Given the description of an element on the screen output the (x, y) to click on. 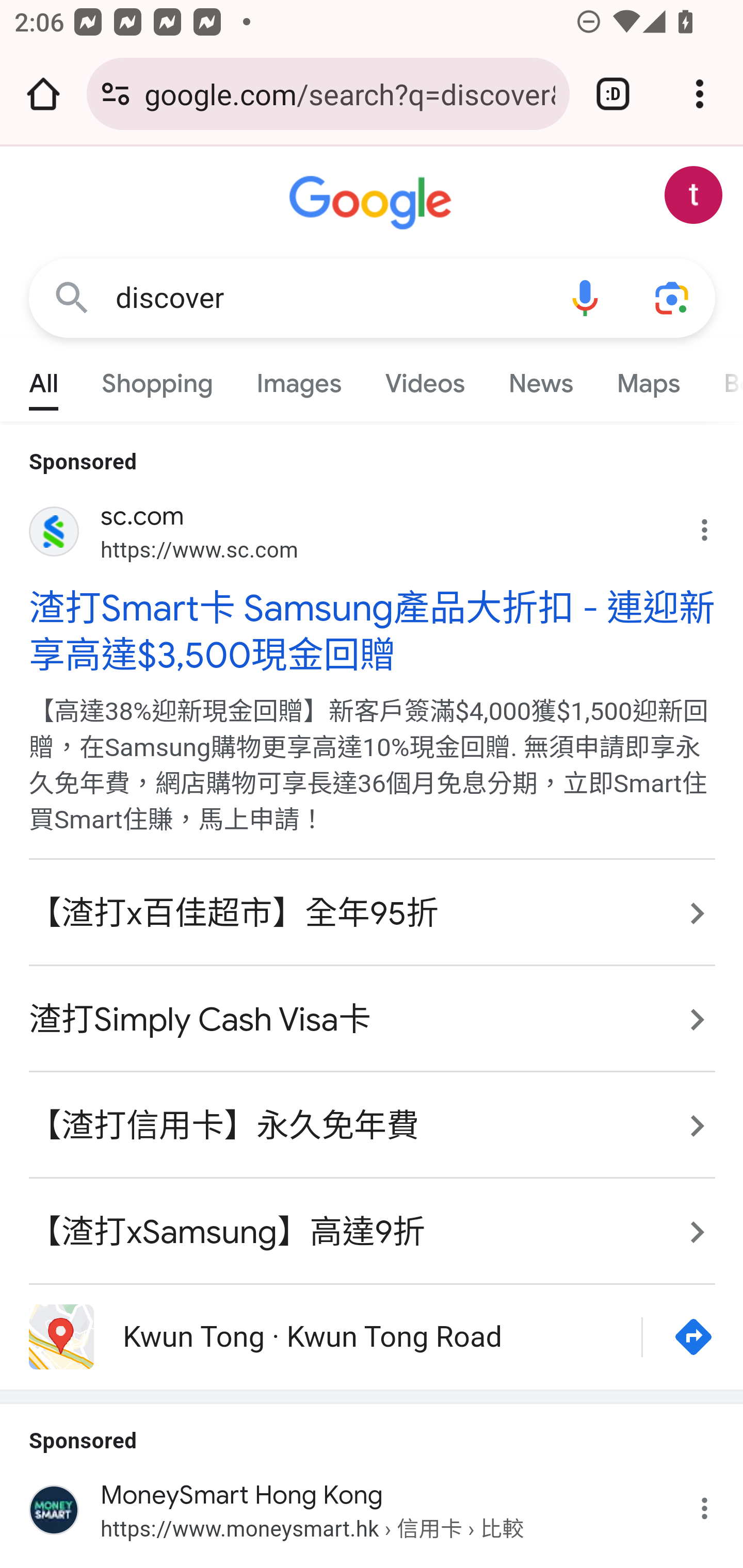
Open the home page (43, 93)
Connection is secure (115, 93)
Switch or close tabs (612, 93)
Customize and control Google Chrome (699, 93)
Google (372, 203)
Google Search (71, 296)
Search using your camera or photos (672, 296)
discover (328, 297)
Shopping (157, 378)
Images (299, 378)
Videos (424, 378)
News (540, 378)
Maps (647, 378)
Why this ad? (714, 525)
渣打Smart卡 Samsung產品大折扣 - 連迎新享高達$3,500現金回贈 (372, 631)
【渣打x百佳超市】全年95折 (372, 913)
渣打Simply Cash Visa卡 (372, 1020)
【渣打信用卡】永久免年費 (372, 1126)
【渣打xSamsung】高達9折 (372, 1221)
Why this ad? (714, 1504)
